Given the description of an element on the screen output the (x, y) to click on. 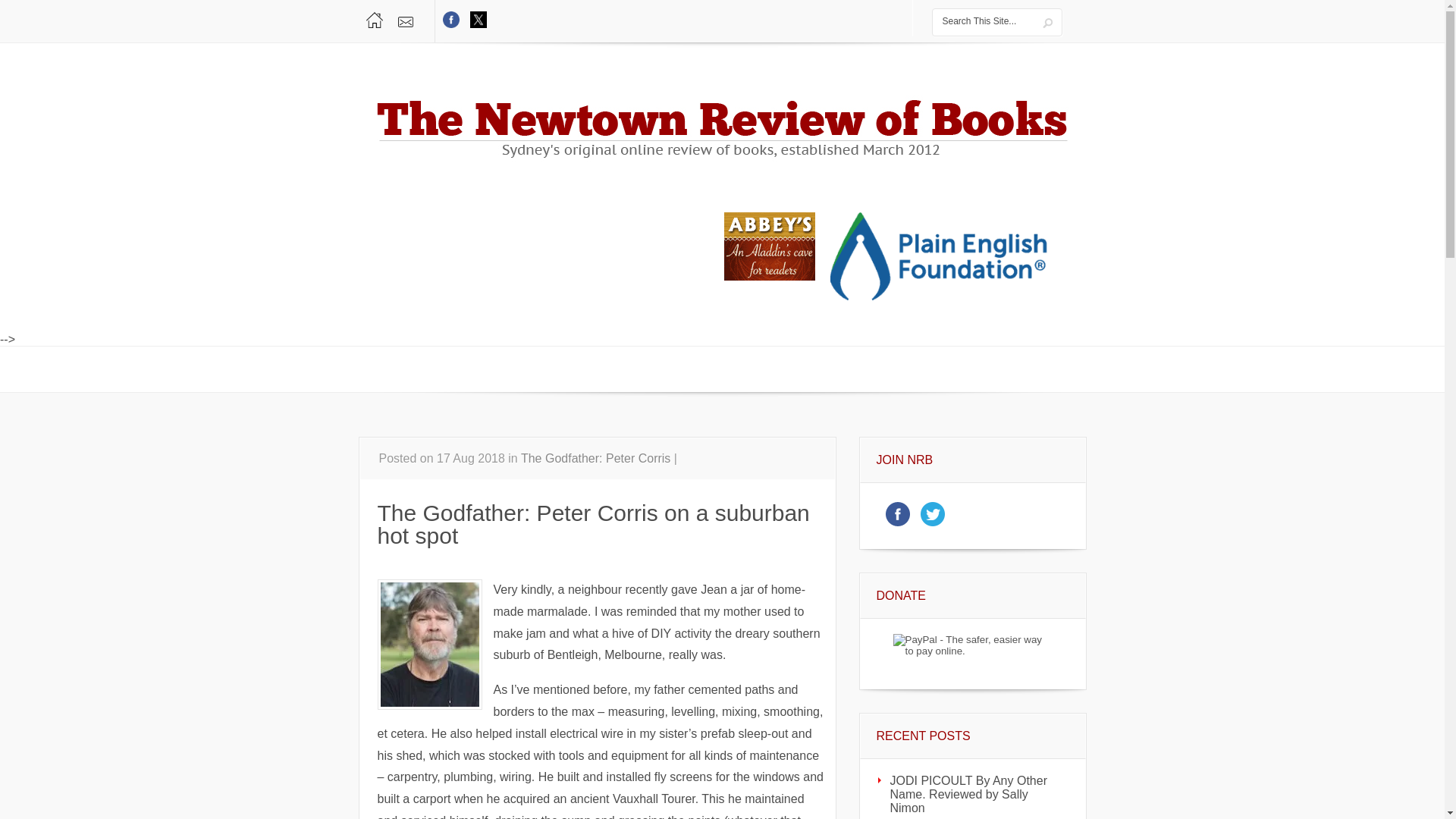
Follow NRB on Twitter (477, 27)
Like NRB on Facebook (451, 27)
Search This Site... (983, 24)
NRB Home (374, 20)
Follow NRB on Twitter (934, 525)
Like NRB on Facebook (897, 525)
JODI PICOULT By Any Other Name. Reviewed by Sally Nimon (973, 789)
The Godfather: Peter Corris (595, 458)
